Given the description of an element on the screen output the (x, y) to click on. 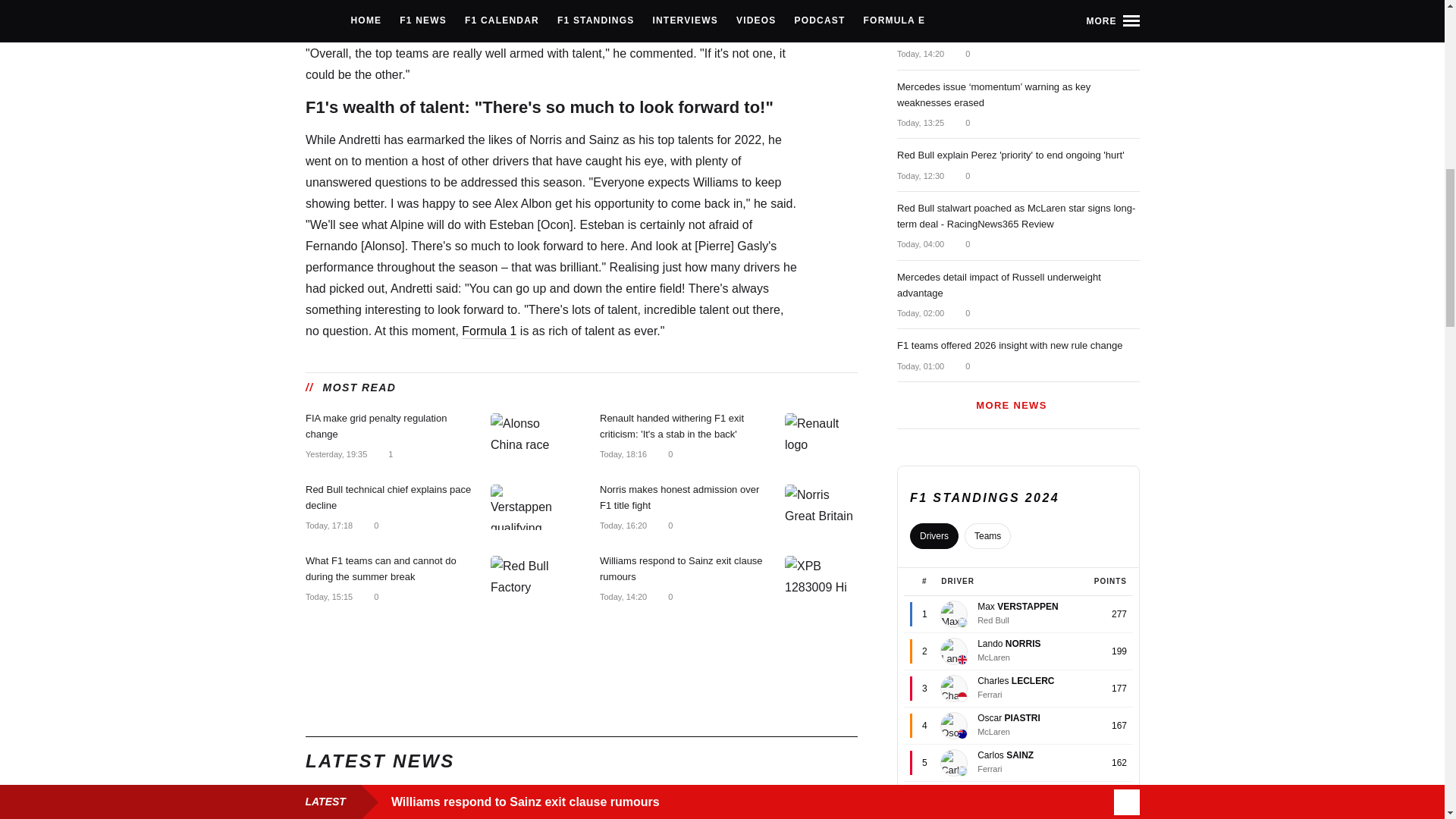
Friday 2 August 2024 at 17:18 (328, 524)
Friday 2 August 2024 at 15:15 (328, 596)
Friday 2 August 2024 at 18:16 (622, 454)
Thursday 1 August 2024 at 19:35 (335, 454)
Friday 2 August 2024 at 14:20 (622, 596)
Friday 2 August 2024 at 16:20 (622, 524)
